Given the description of an element on the screen output the (x, y) to click on. 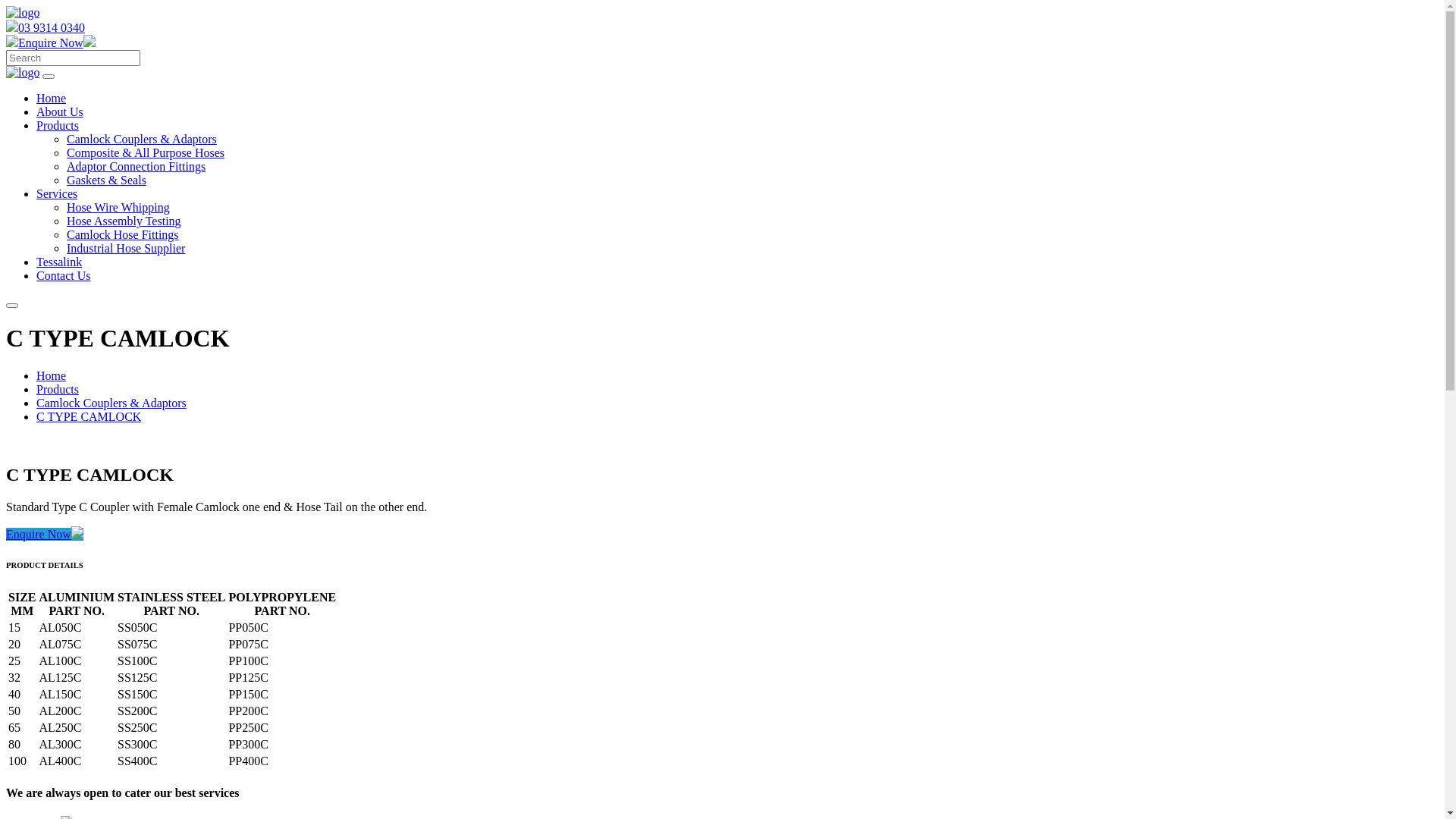
Enquire Now Element type: text (44, 533)
Camlock Couplers & Adaptors Element type: text (111, 402)
Services Element type: text (56, 193)
Home Element type: text (50, 97)
Tessalink Element type: text (58, 261)
Home Element type: text (50, 375)
Industrial Hose Supplier Element type: text (125, 247)
C TYPE CAMLOCK Element type: text (88, 416)
Enquire Now Element type: text (50, 42)
Products Element type: text (57, 388)
Composite & All Purpose Hoses Element type: text (145, 152)
About Us Element type: text (59, 111)
Hose Wire Whipping Element type: text (117, 206)
Adaptor Connection Fittings Element type: text (135, 166)
Products Element type: text (57, 125)
Gaskets & Seals Element type: text (106, 179)
Hose Assembly Testing Element type: text (123, 220)
Contact Us Element type: text (63, 275)
Camlock Couplers & Adaptors Element type: text (141, 138)
03 9314 0340 Element type: text (45, 27)
Camlock Hose Fittings Element type: text (122, 234)
